Given the description of an element on the screen output the (x, y) to click on. 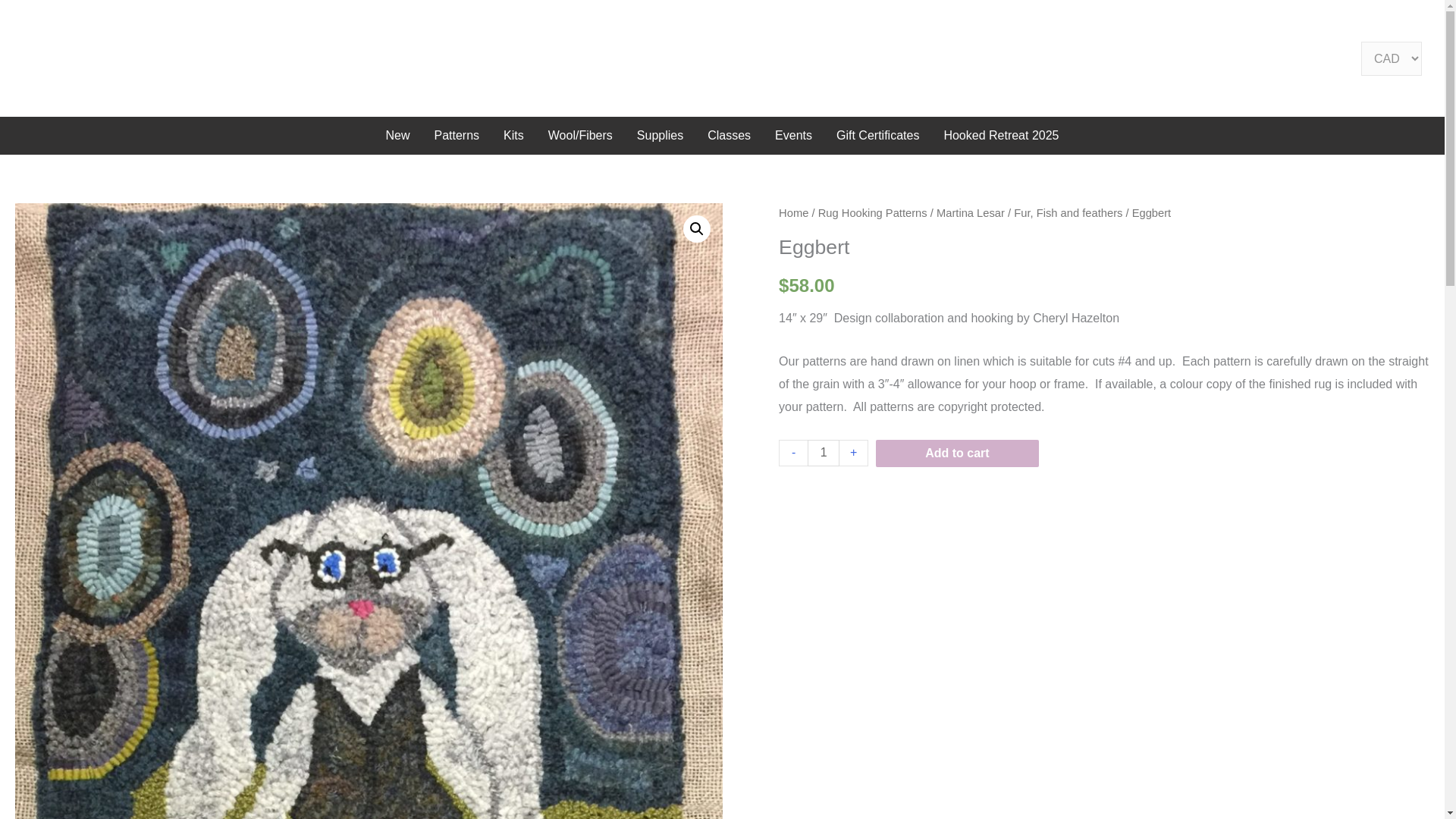
Patterns (457, 135)
1 (824, 452)
Martina Lesar (970, 213)
Home (793, 213)
Fur, Fish and feathers (1067, 213)
Classes (728, 135)
Qty (824, 452)
New (397, 135)
Hooked Retreat 2025 (1000, 135)
Kits (513, 135)
Gift Certificates (877, 135)
Add to cart (957, 452)
Events (793, 135)
- (793, 452)
